Given the description of an element on the screen output the (x, y) to click on. 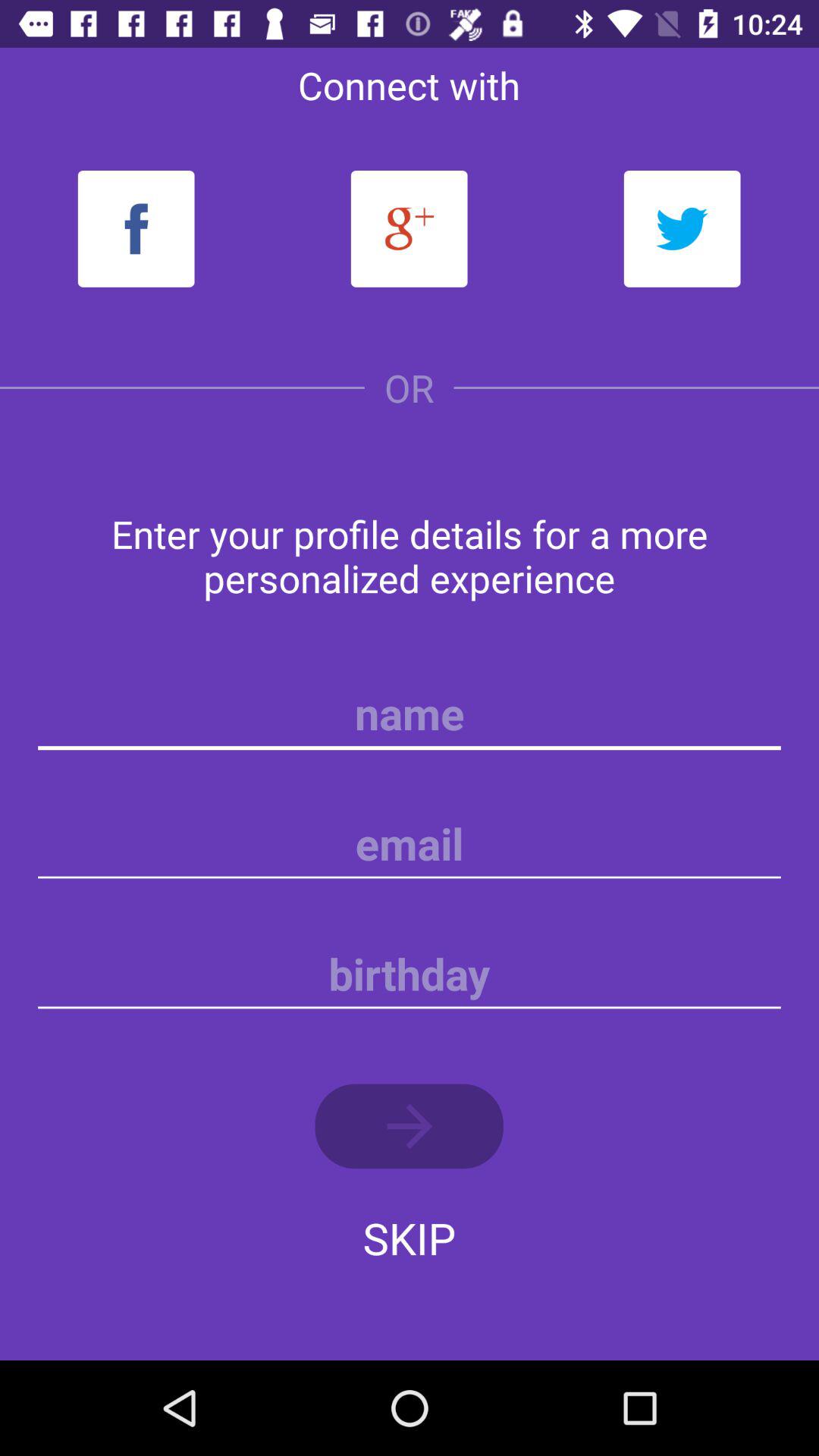
enter text (409, 713)
